Given the description of an element on the screen output the (x, y) to click on. 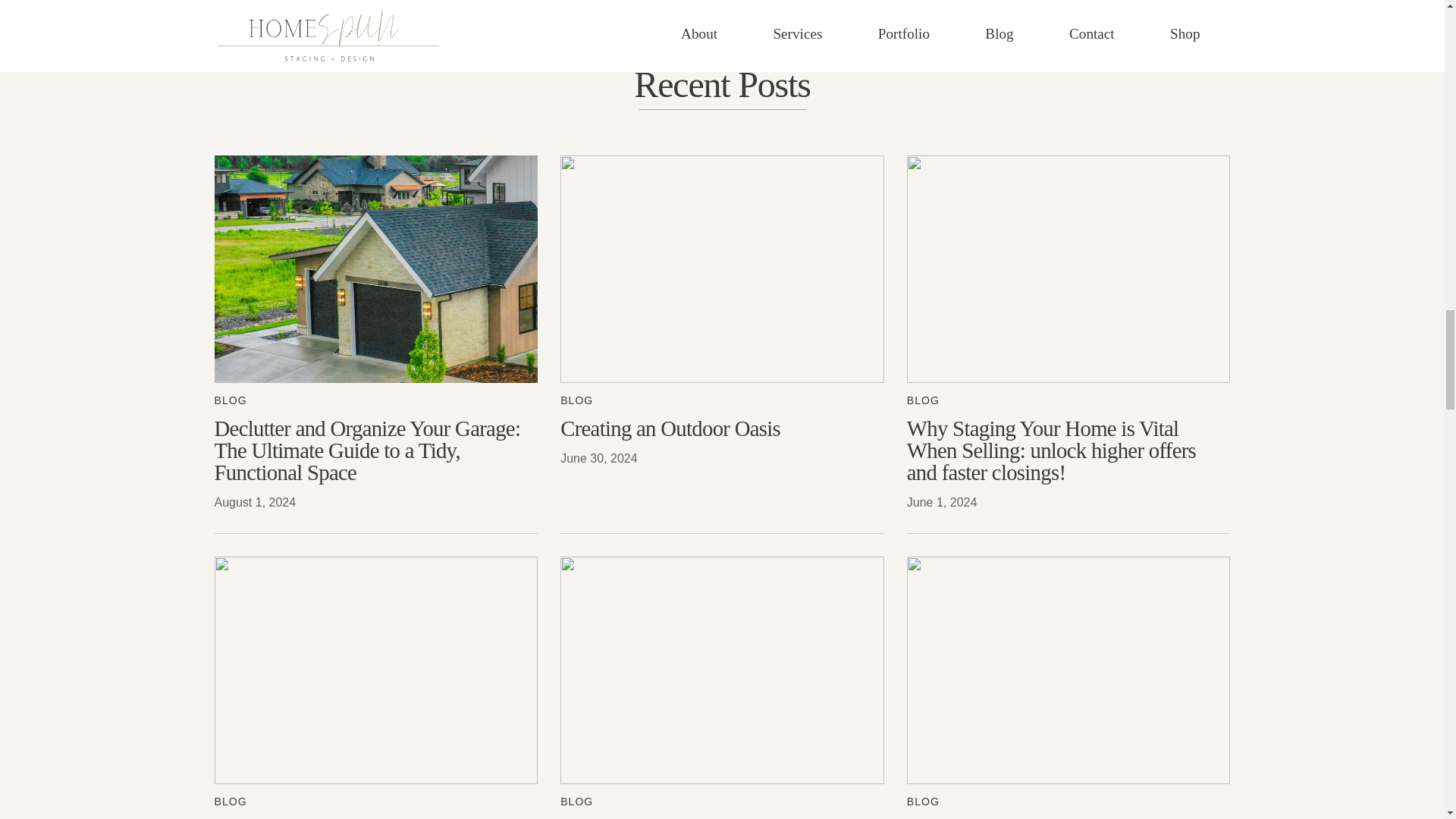
BLOG (230, 399)
Creating an Outdoor Oasis (721, 428)
BLOG (576, 399)
